Given the description of an element on the screen output the (x, y) to click on. 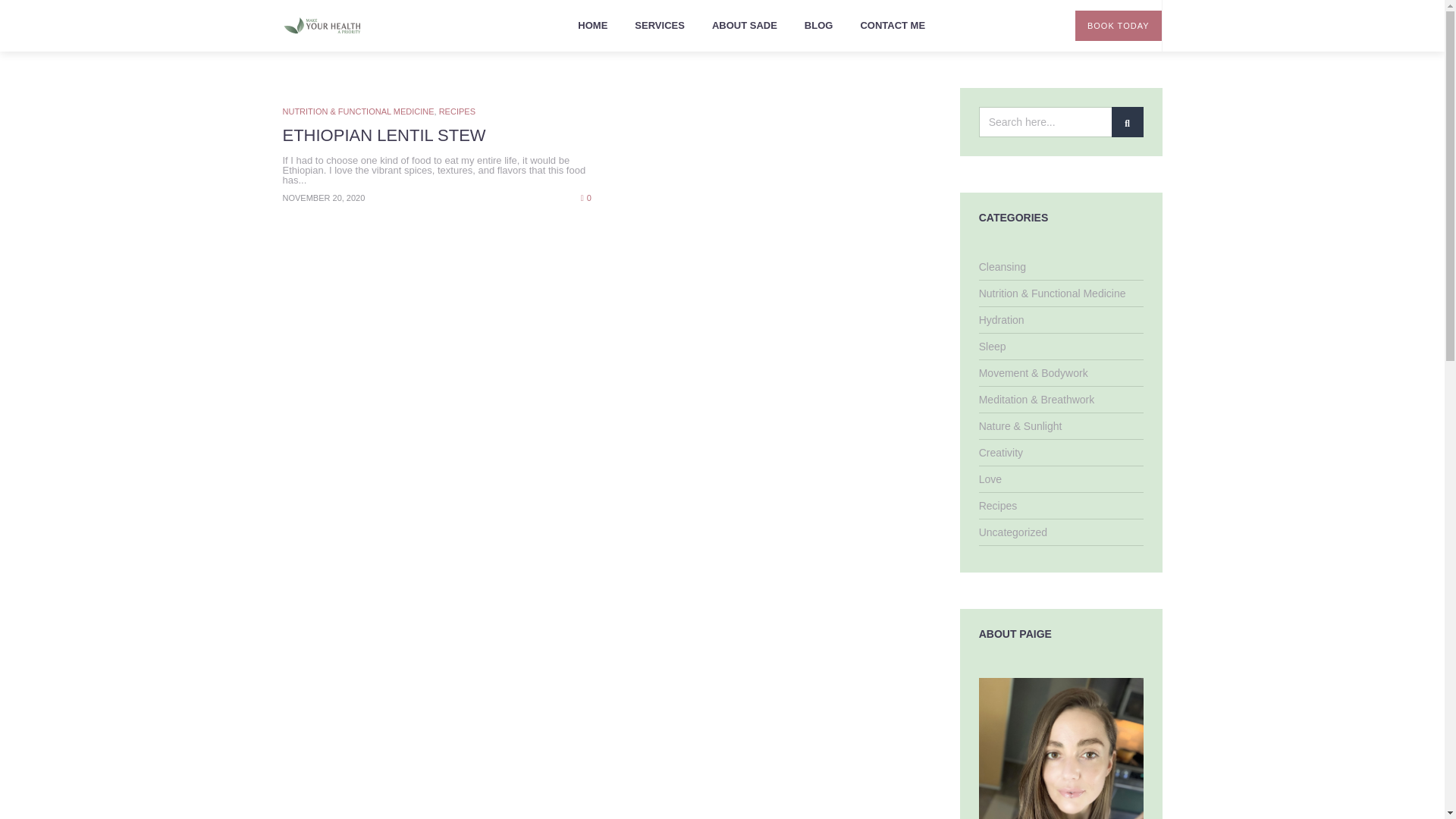
HOME (592, 25)
0 (585, 196)
Search here... (1060, 122)
CONTACT ME (892, 25)
Uncategorized (1012, 532)
Make Your Health A Priority (321, 25)
Love (989, 479)
SERVICES (659, 25)
Search here... (1060, 122)
Cleansing (1002, 266)
Recipes (997, 505)
Sleep (992, 346)
ABOUT SADE (744, 25)
View all posts in Recipes (457, 111)
RECIPES (457, 111)
